Given the description of an element on the screen output the (x, y) to click on. 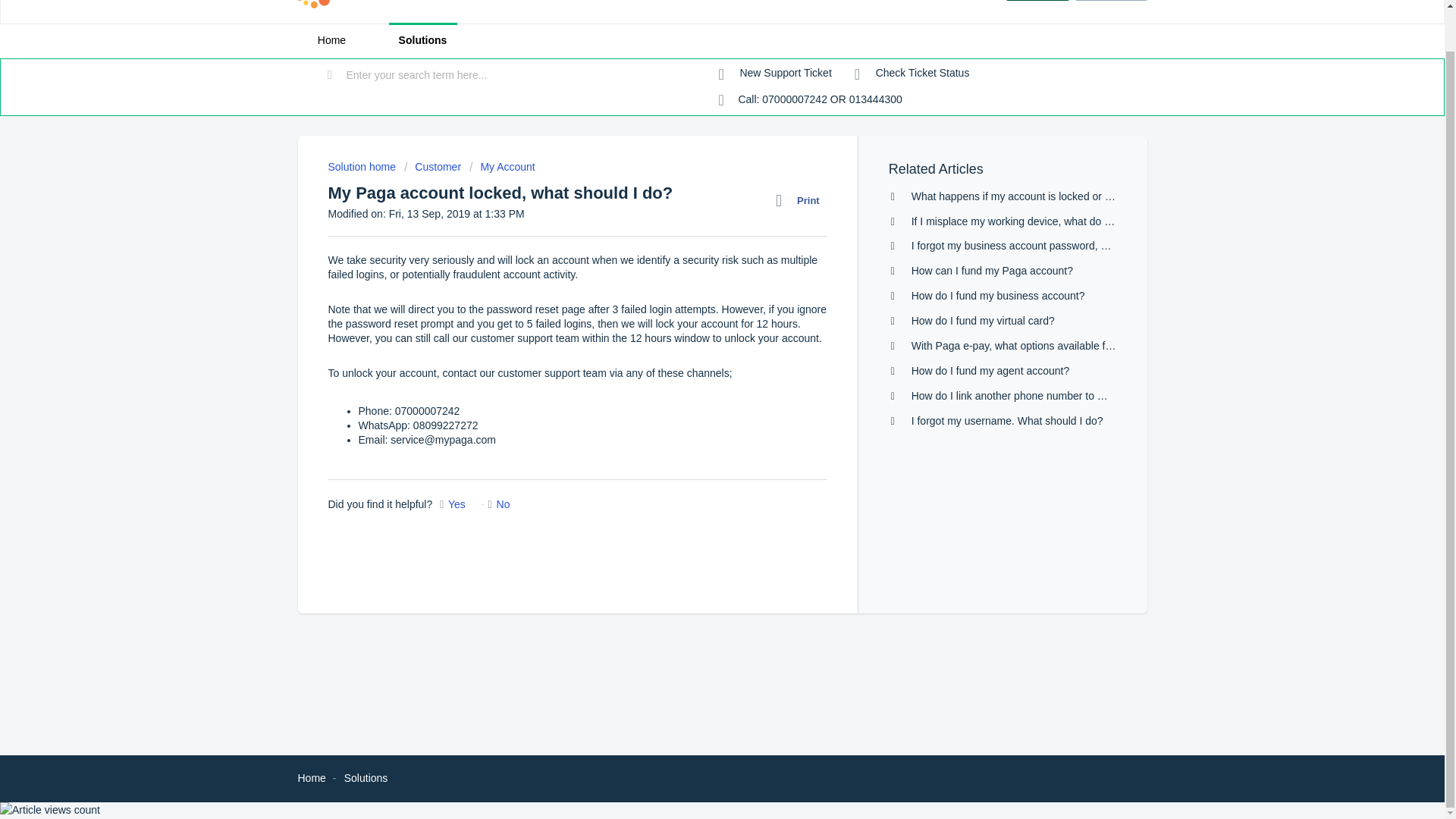
Solutions (422, 40)
How do I fund my agent account? (990, 370)
What happens if my account is locked or Disabled? (1032, 196)
Home (310, 777)
New Support Ticket (775, 73)
Check ticket status (911, 73)
Print (801, 200)
LOGIN (1037, 0)
How do I fund my virtual card? (982, 320)
Customer (432, 166)
Home (331, 40)
How do I link another phone number to my Paga account? (1048, 395)
How do I fund my business account? (997, 295)
Call: 07000007242 OR 013444300 (810, 99)
